Given the description of an element on the screen output the (x, y) to click on. 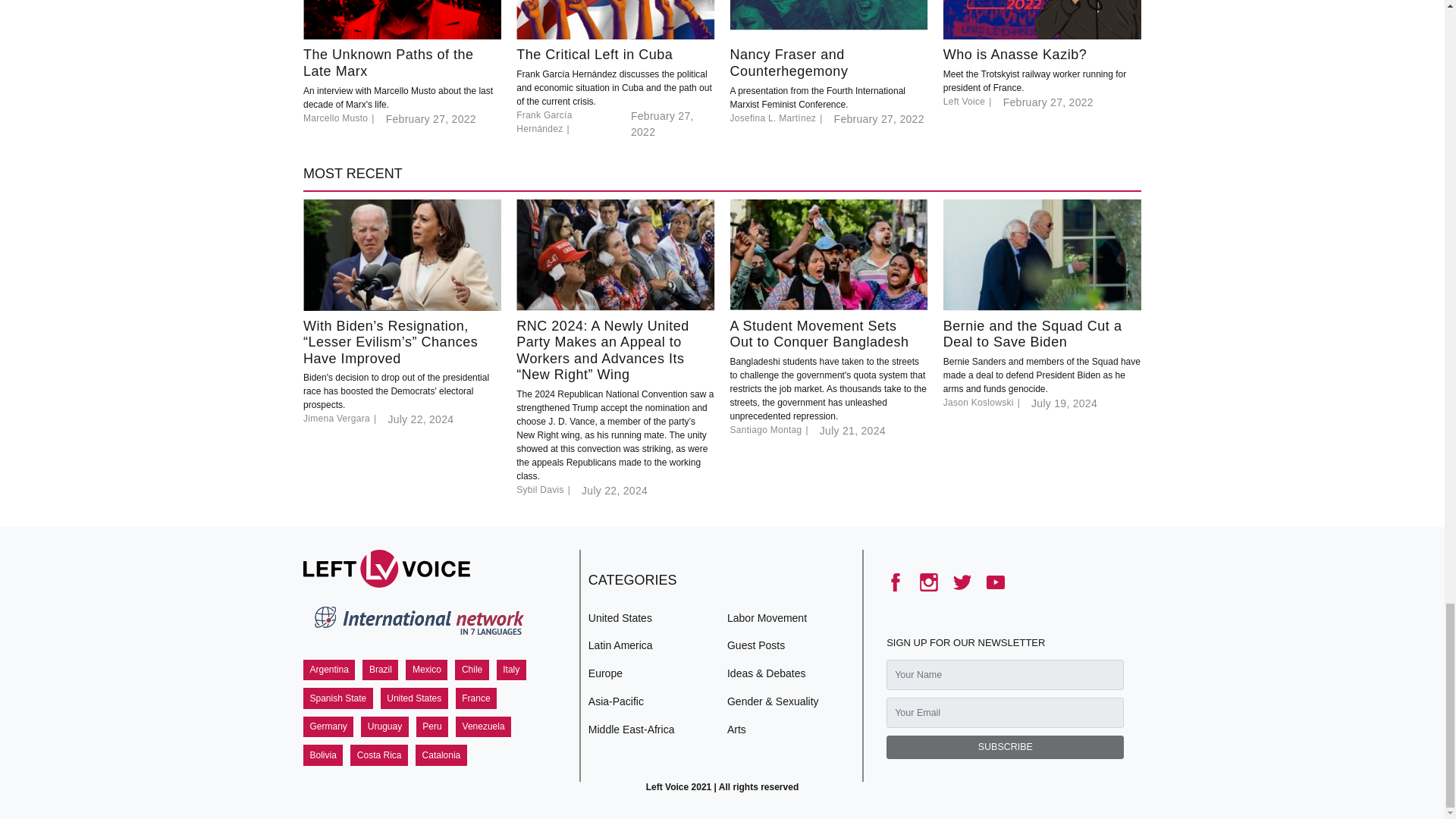
International Network (417, 623)
Left Voice (386, 568)
